Given the description of an element on the screen output the (x, y) to click on. 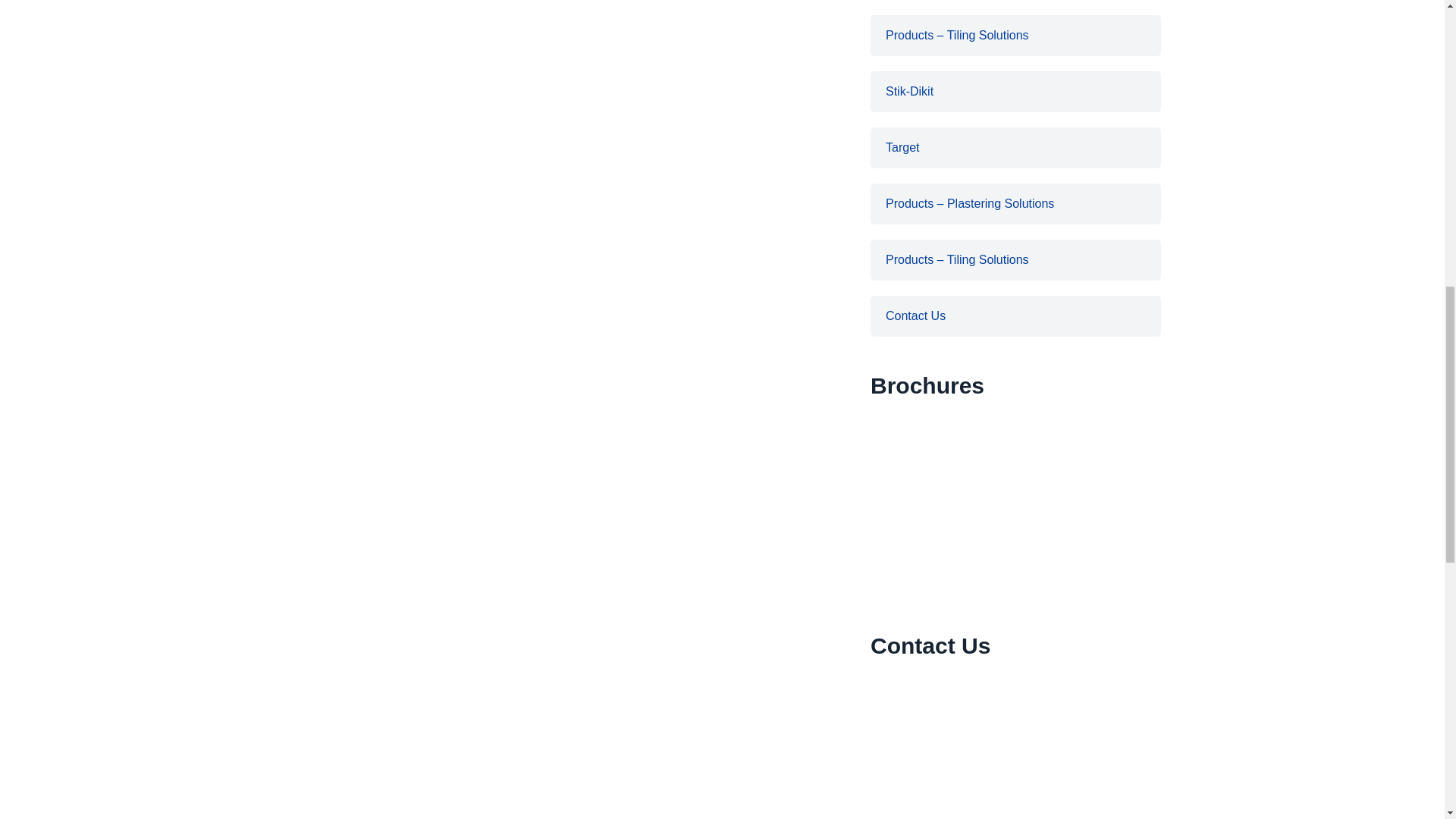
Stik-Dikit (1015, 91)
Target (1015, 147)
